Given the description of an element on the screen output the (x, y) to click on. 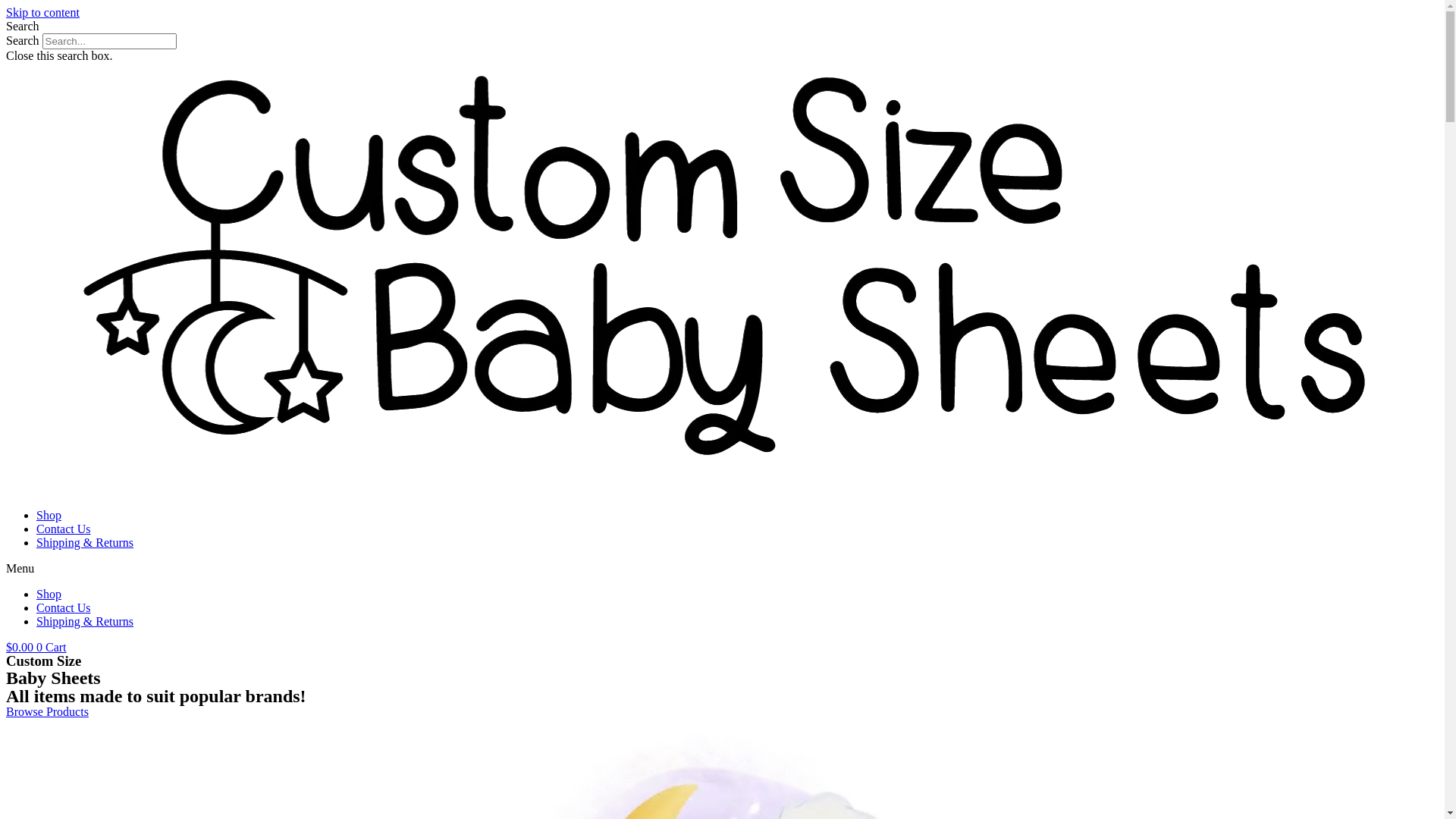
$0.00 0 Cart Element type: text (36, 646)
Contact Us Element type: text (63, 528)
Shop Element type: text (48, 514)
Shop Element type: text (48, 593)
Skip to content Element type: text (42, 12)
Shipping & Returns Element type: text (84, 542)
Contact Us Element type: text (63, 607)
Shipping & Returns Element type: text (84, 621)
Browse Products Element type: text (47, 711)
